Given the description of an element on the screen output the (x, y) to click on. 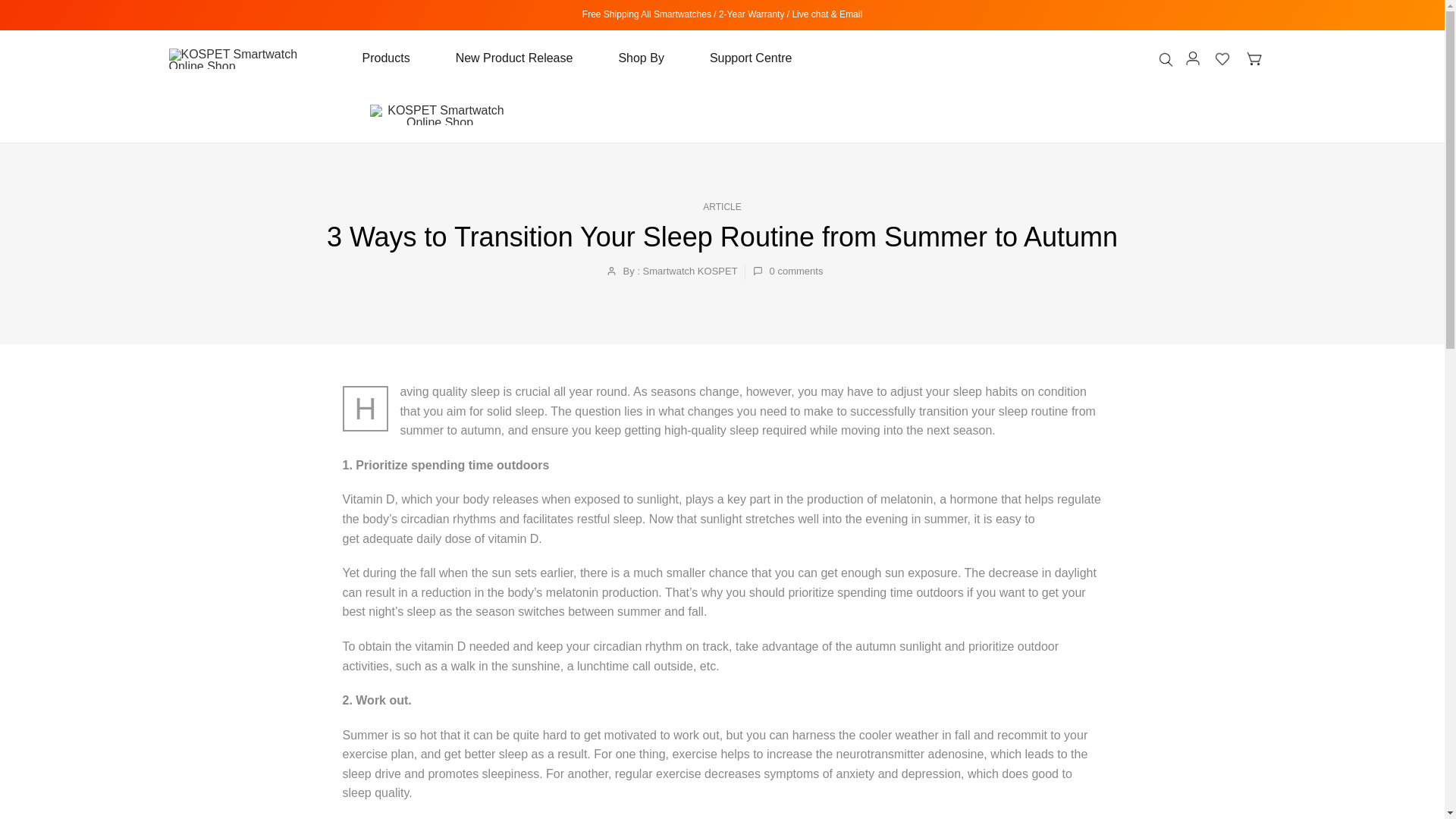
New Product Release (513, 57)
Shop By (640, 57)
Skip to content (10, 7)
Support Centre (739, 57)
Products (397, 57)
ARTICLE (722, 206)
0 comments (788, 271)
